Given the description of an element on the screen output the (x, y) to click on. 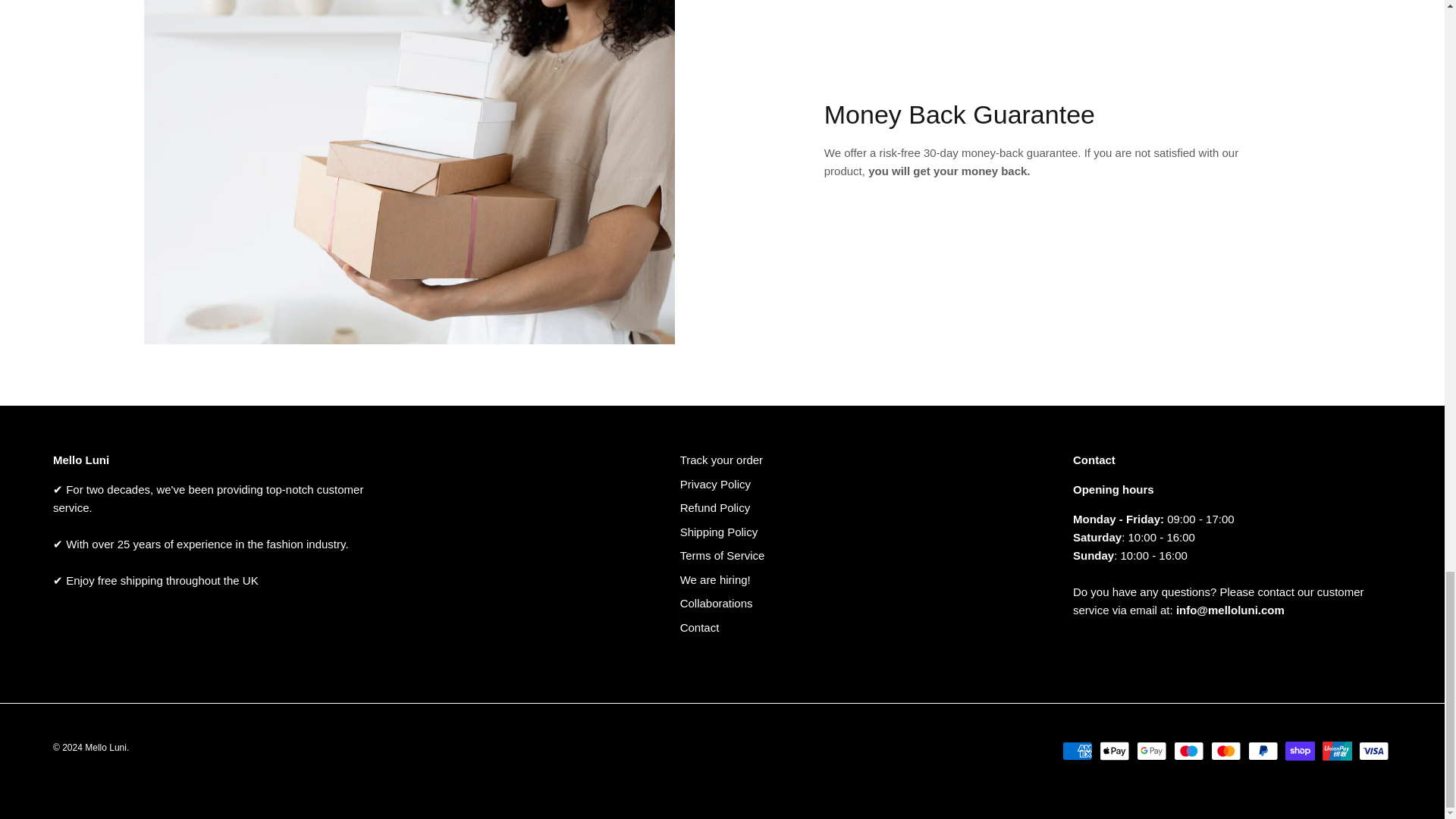
Google Pay (1151, 751)
PayPal (1262, 751)
Maestro (1188, 751)
Union Pay (1337, 751)
Mastercard (1225, 751)
American Express (1077, 751)
Shop Pay (1299, 751)
Apple Pay (1114, 751)
